Given the description of an element on the screen output the (x, y) to click on. 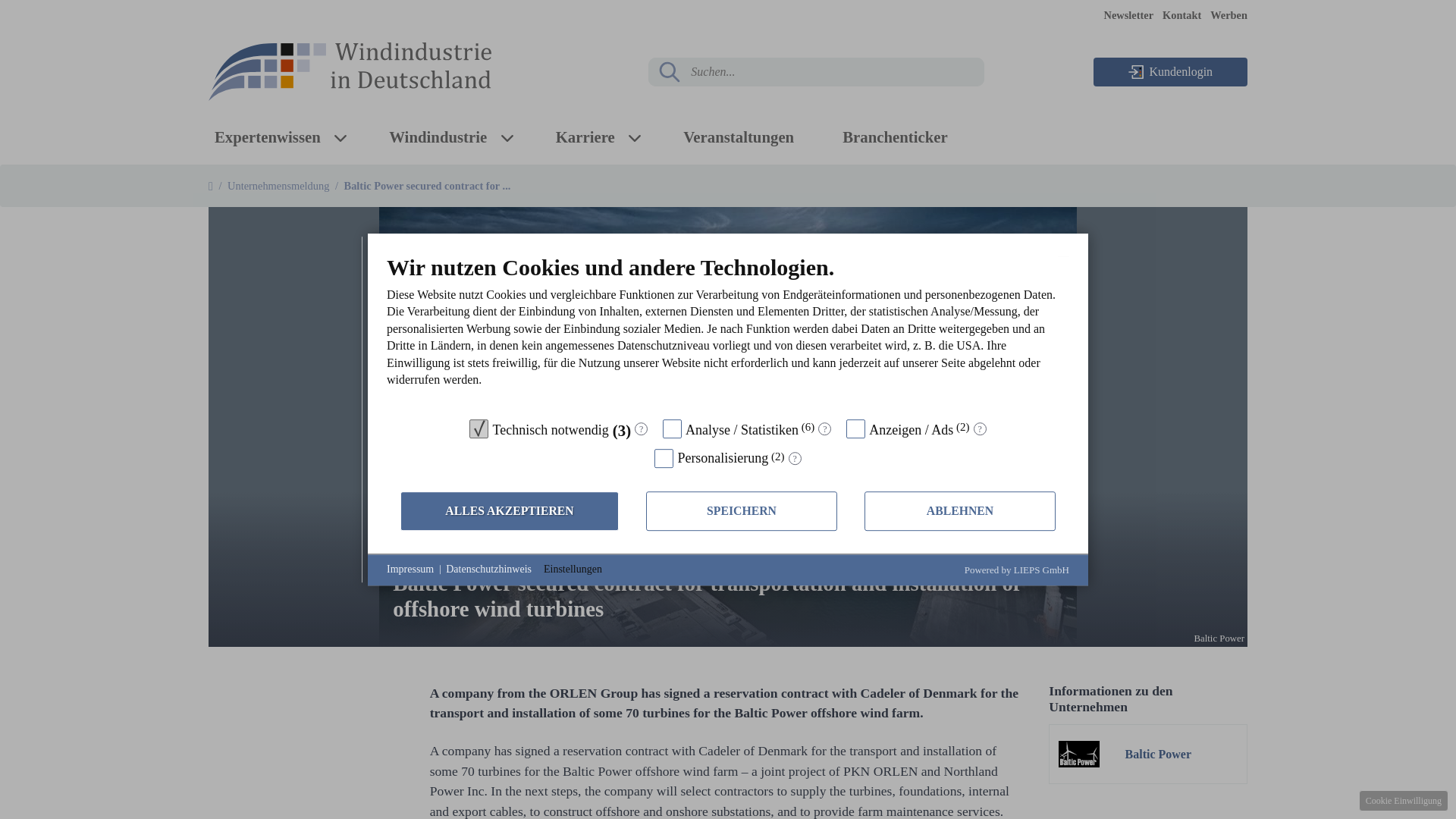
Kundenlogin (1170, 71)
Branchenticker (894, 136)
Karriere (585, 136)
Details (795, 459)
Details (824, 429)
Unternehmensmeldung (278, 185)
Windindustrie (437, 136)
Kontakt (1181, 15)
Details (980, 429)
UNTERNEHMENSMELDUNG (473, 548)
Werben (1228, 15)
Cookie Einwilligung (1403, 800)
Home (210, 185)
Newsletter (1128, 15)
